Given the description of an element on the screen output the (x, y) to click on. 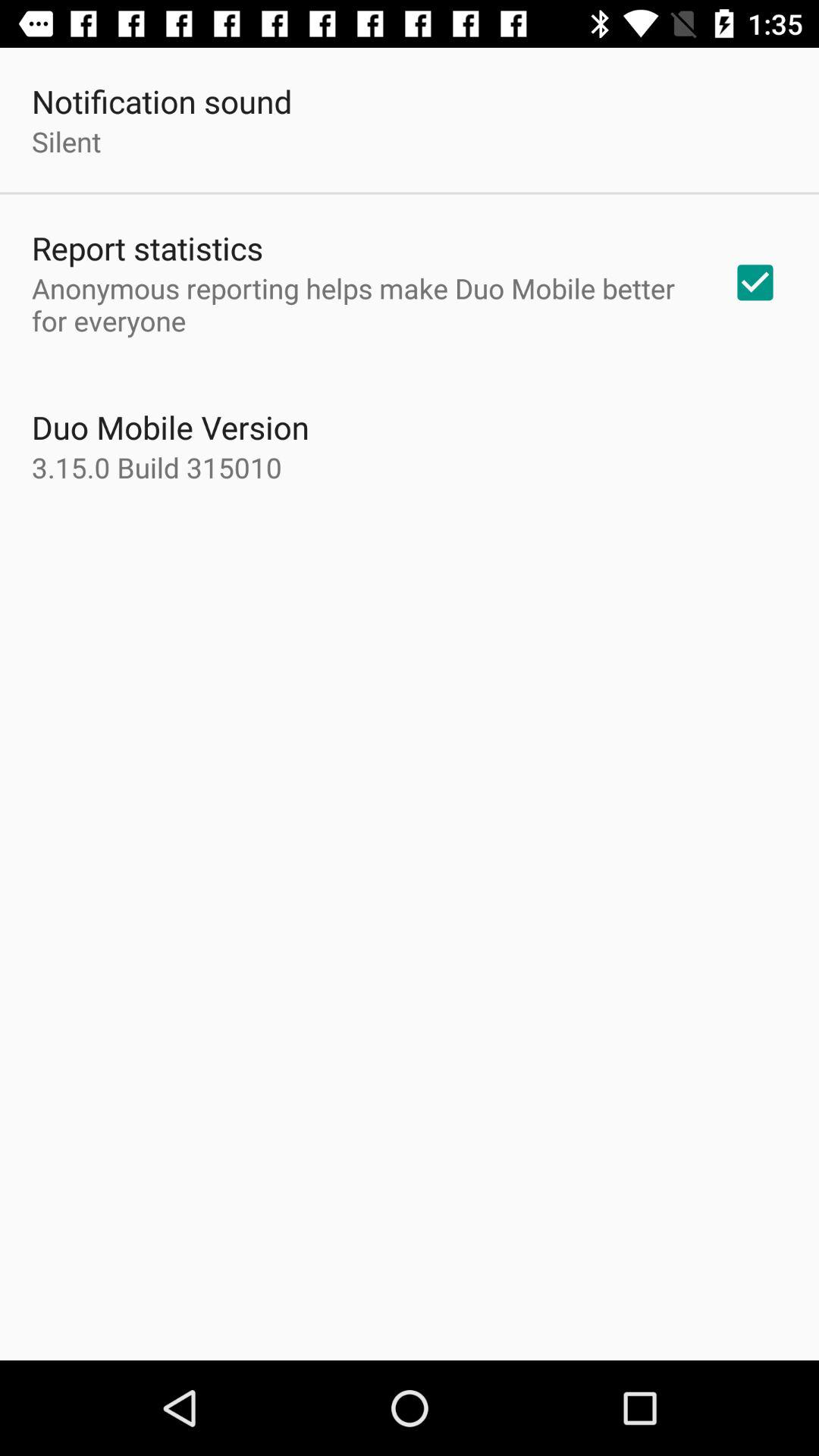
turn on the report statistics icon (147, 247)
